Given the description of an element on the screen output the (x, y) to click on. 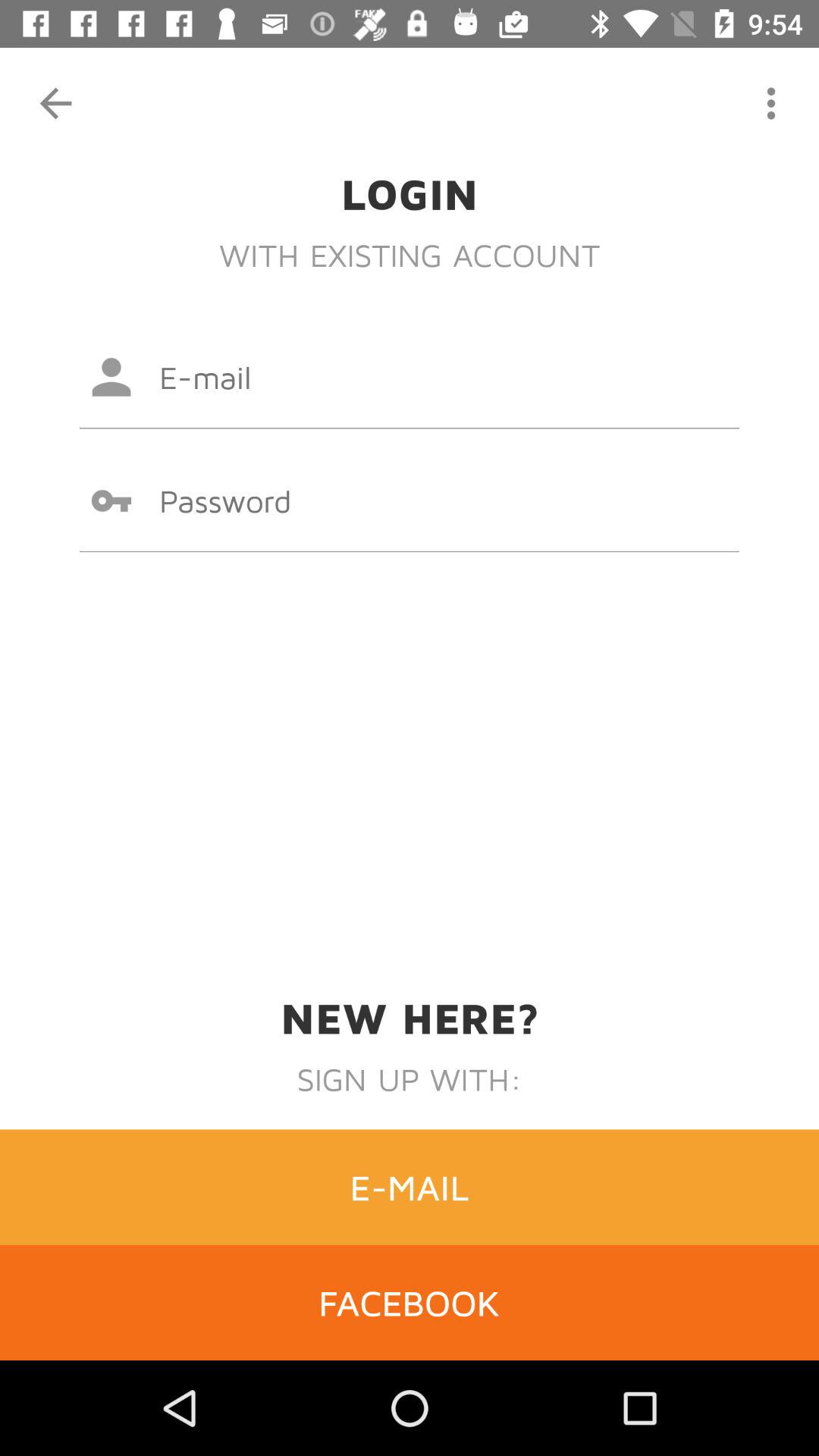
choose the item below sign up with: icon (409, 1186)
